Given the description of an element on the screen output the (x, y) to click on. 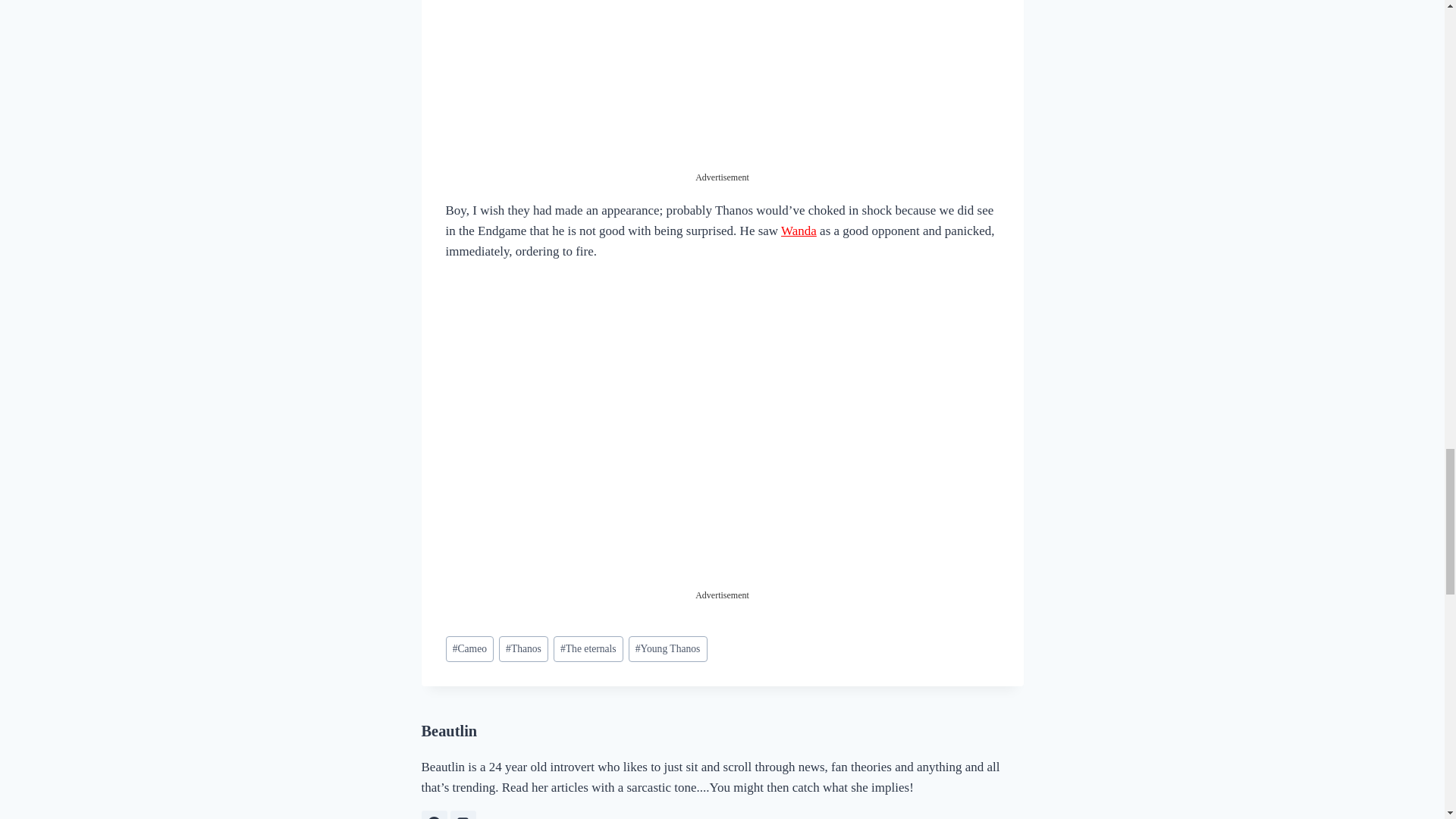
Wanda (798, 230)
Follow Beautlin on Linkedin (462, 814)
Posts by Beautlin (449, 730)
Thanos (523, 649)
The eternals (588, 649)
Advertisement (720, 481)
Beautlin (449, 730)
Cameo (470, 649)
Young Thanos (667, 649)
Follow Beautlin on Facebook (434, 814)
